Given the description of an element on the screen output the (x, y) to click on. 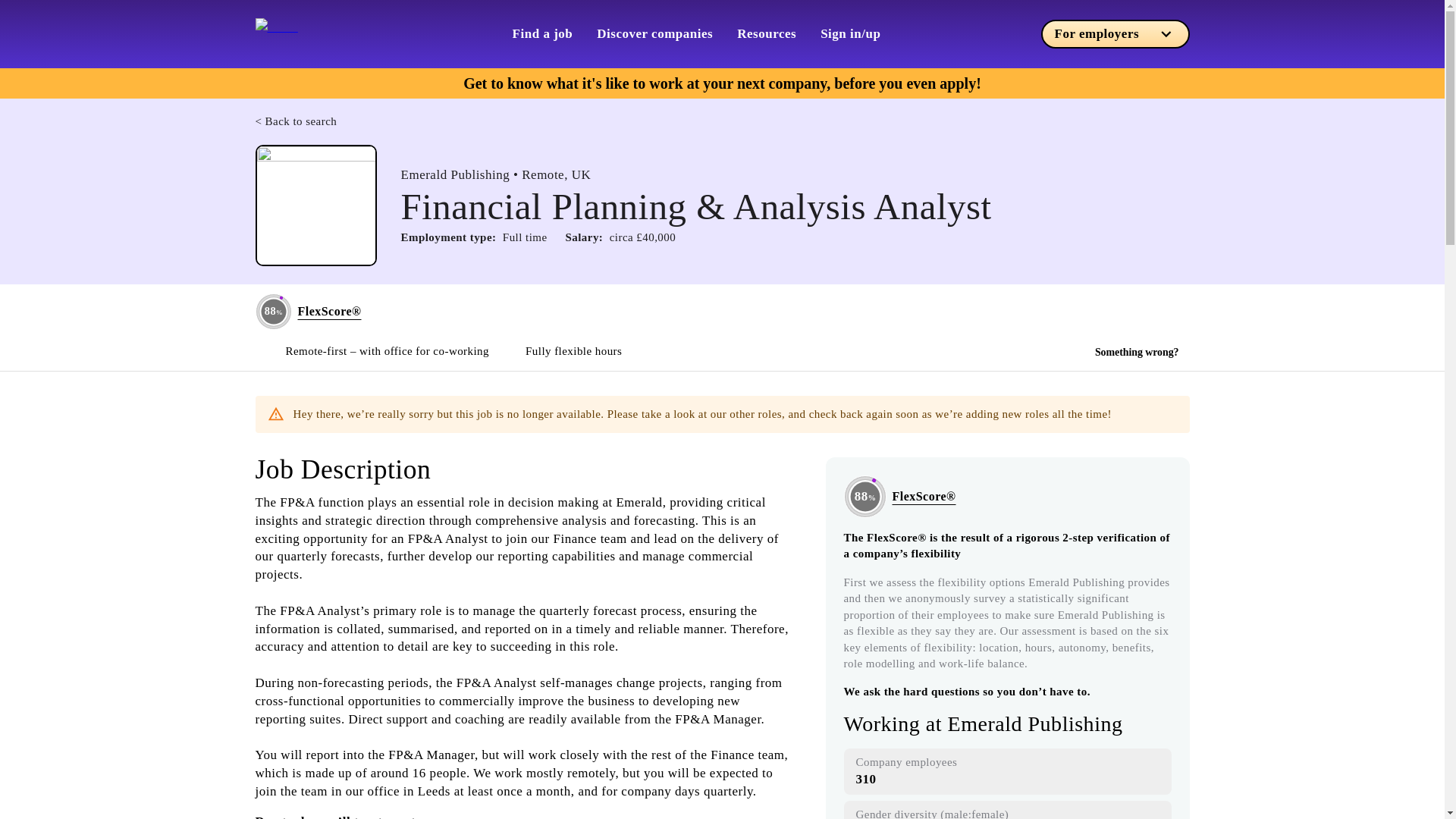
Something wrong? (1136, 352)
Find a job (542, 33)
Discover companies (654, 33)
Resources (766, 33)
For employers (1115, 33)
